Given the description of an element on the screen output the (x, y) to click on. 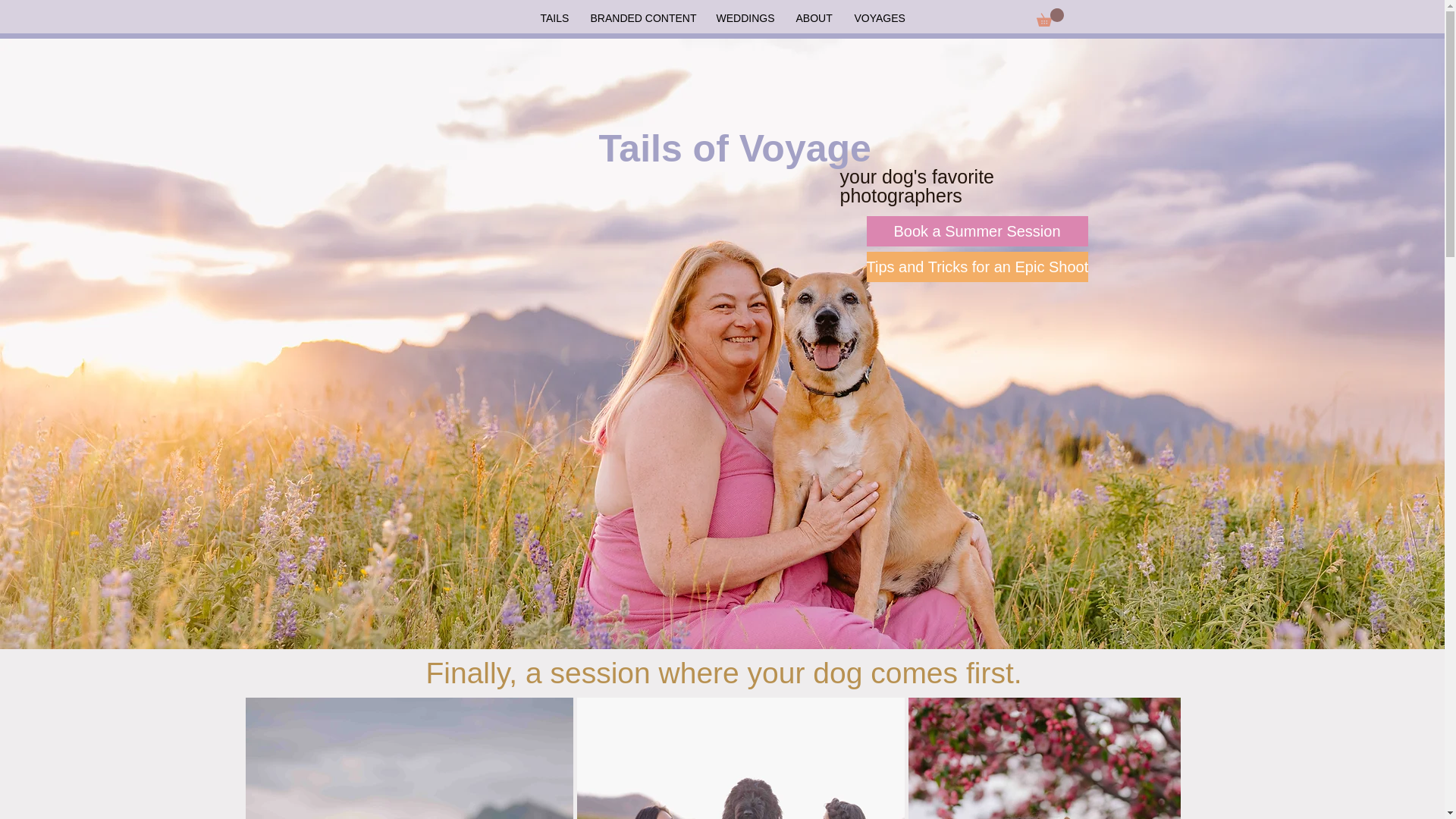
TAILS (554, 18)
Log In (1013, 57)
VOYAGES (879, 18)
Book a Summer Session (976, 231)
WEDDINGS (744, 18)
ABOUT (813, 18)
BRANDED CONTENT (641, 18)
Tips and Tricks for an Epic Shoot (976, 266)
